Given the description of an element on the screen output the (x, y) to click on. 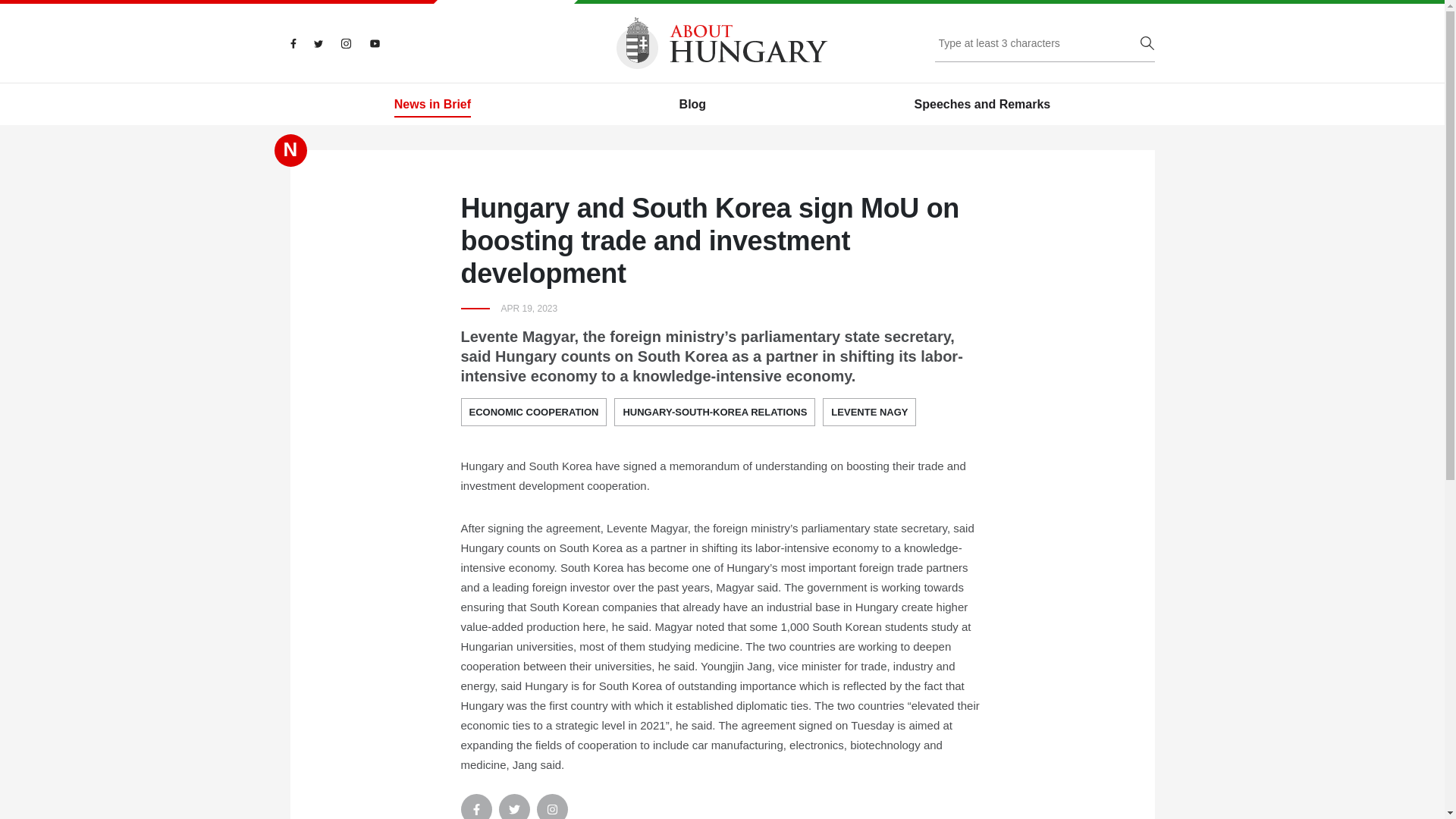
Levente Nagy (868, 412)
Blog (692, 104)
Hungary-South-Korea relations (714, 412)
ECONOMIC COOPERATION (534, 412)
Speeches and Remarks (982, 104)
Twitter- icon (514, 806)
News in Brief (432, 104)
Blog (692, 104)
Instagram icon (552, 806)
Facebook icon (476, 806)
